Given the description of an element on the screen output the (x, y) to click on. 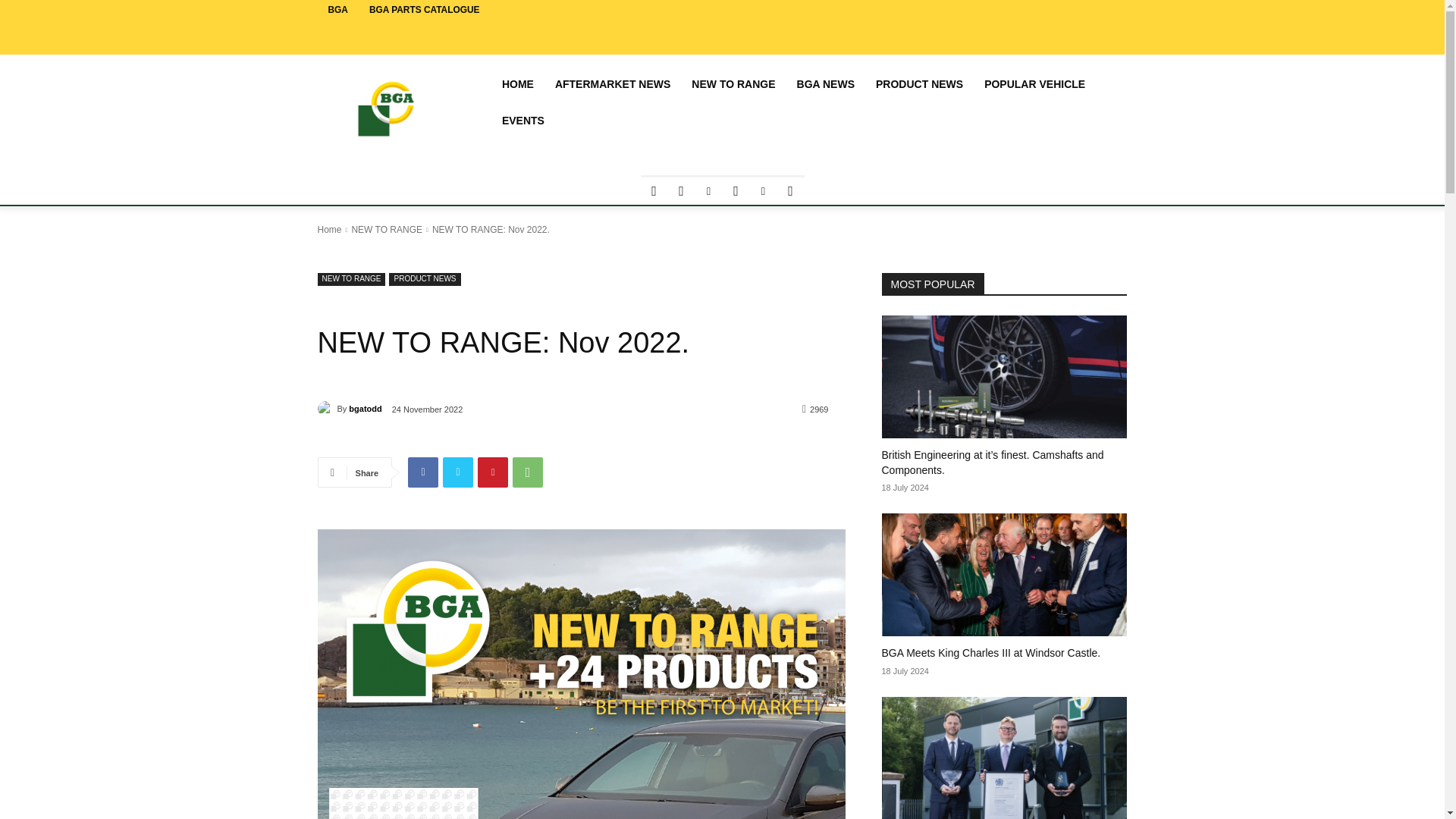
Vimeo (762, 190)
Pinterest (492, 472)
PRODUCT NEWS (919, 84)
Linkedin (708, 190)
Twitter (457, 472)
Instagram (680, 190)
Youtube (789, 190)
Twitter (735, 190)
NEW TO RANGE (733, 84)
Facebook (653, 190)
bgatodd (326, 408)
EVENTS (523, 120)
View all posts in NEW TO RANGE (386, 229)
Home (328, 229)
HOME (518, 84)
